Given the description of an element on the screen output the (x, y) to click on. 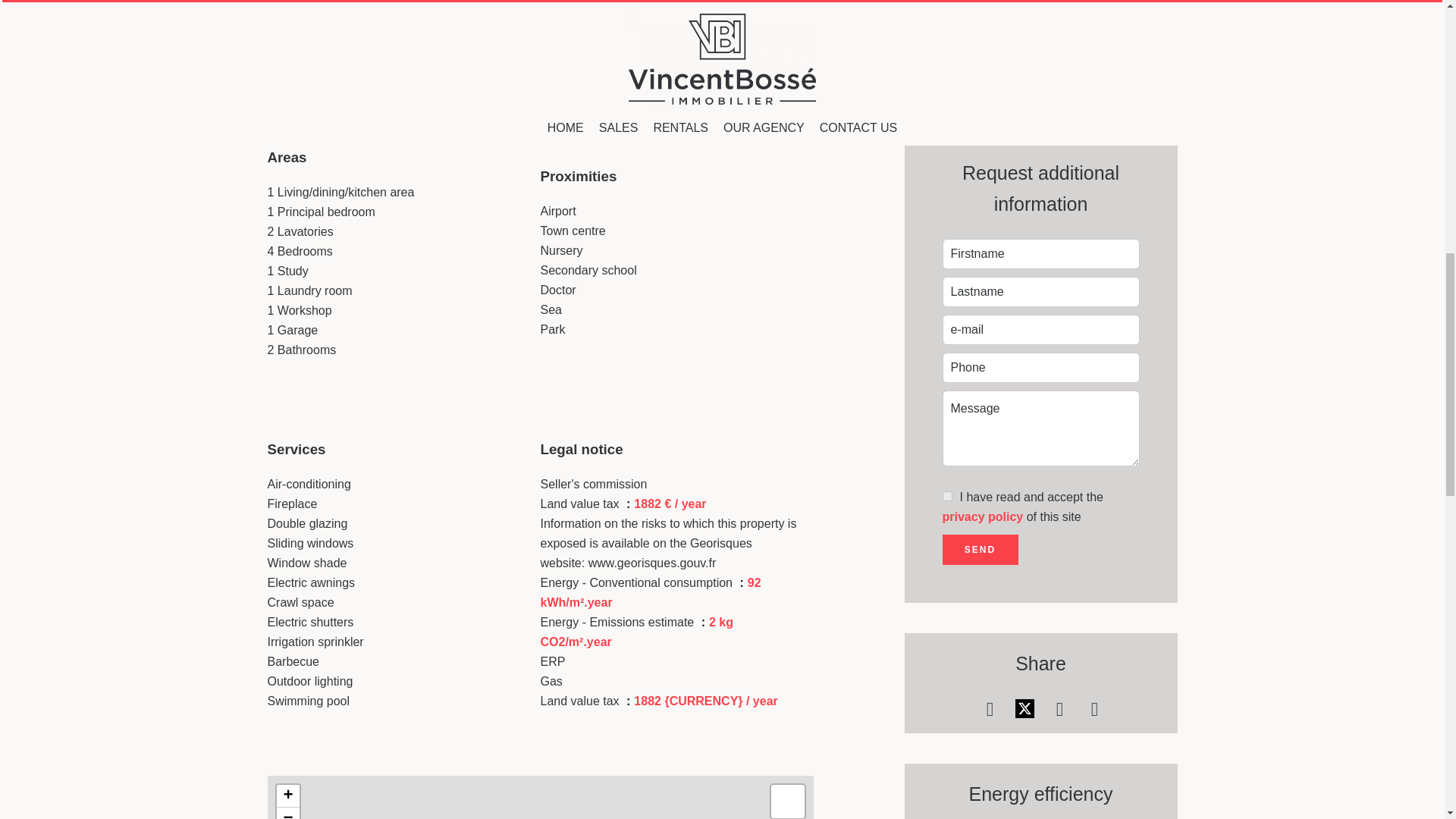
SEND (979, 549)
Zoom out (287, 813)
Zoom in (287, 795)
on (947, 496)
privacy policy (982, 516)
